Given the description of an element on the screen output the (x, y) to click on. 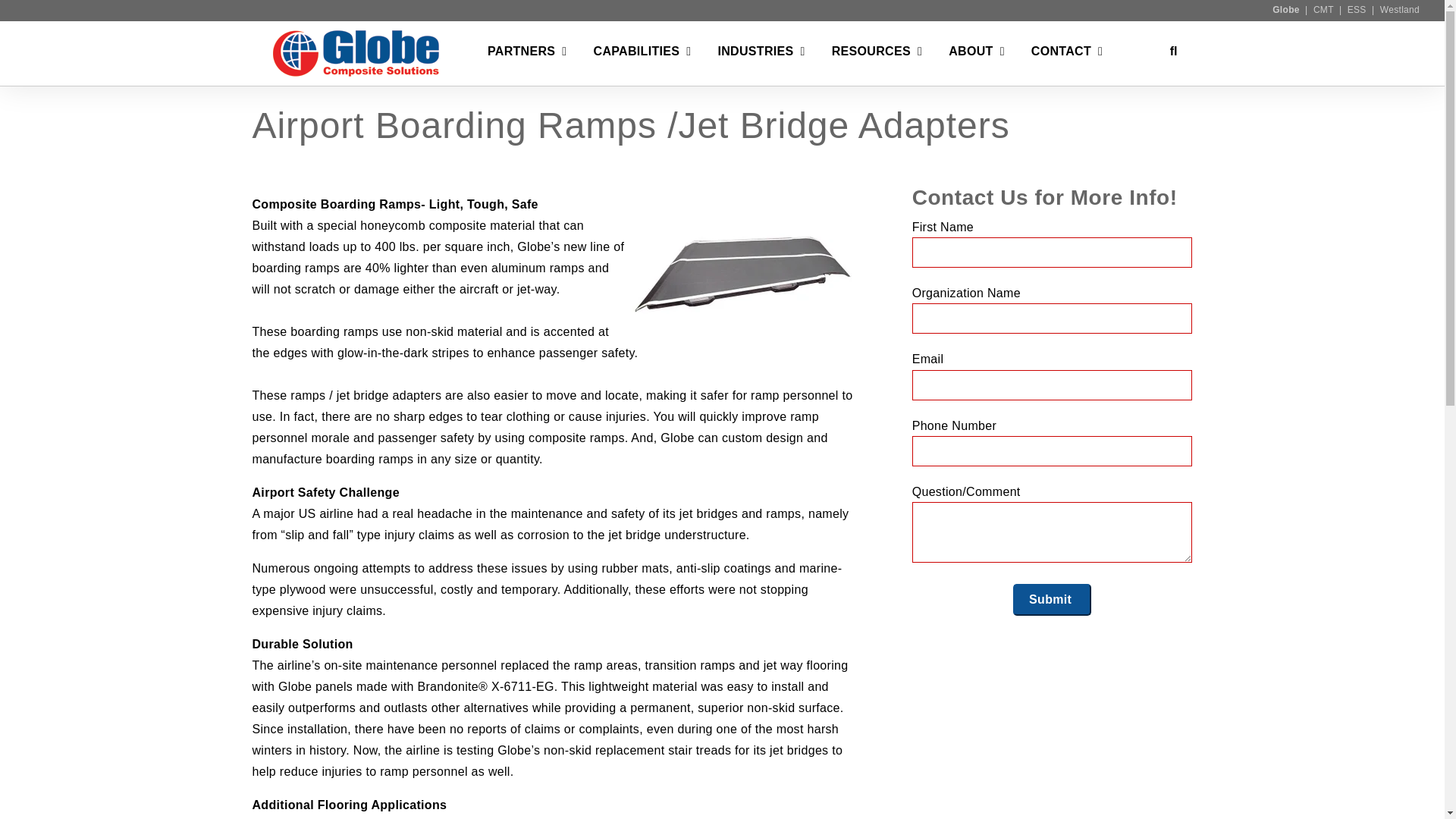
CMT (1323, 9)
Globe (1286, 9)
INDUSTRIES (755, 53)
CAPABILITIES (636, 53)
PARTNERS (520, 53)
ESS (1357, 9)
Westland (1399, 9)
RESOURCES (871, 53)
Globe Composite Solutions (357, 52)
Submit  (1051, 599)
